Given the description of an element on the screen output the (x, y) to click on. 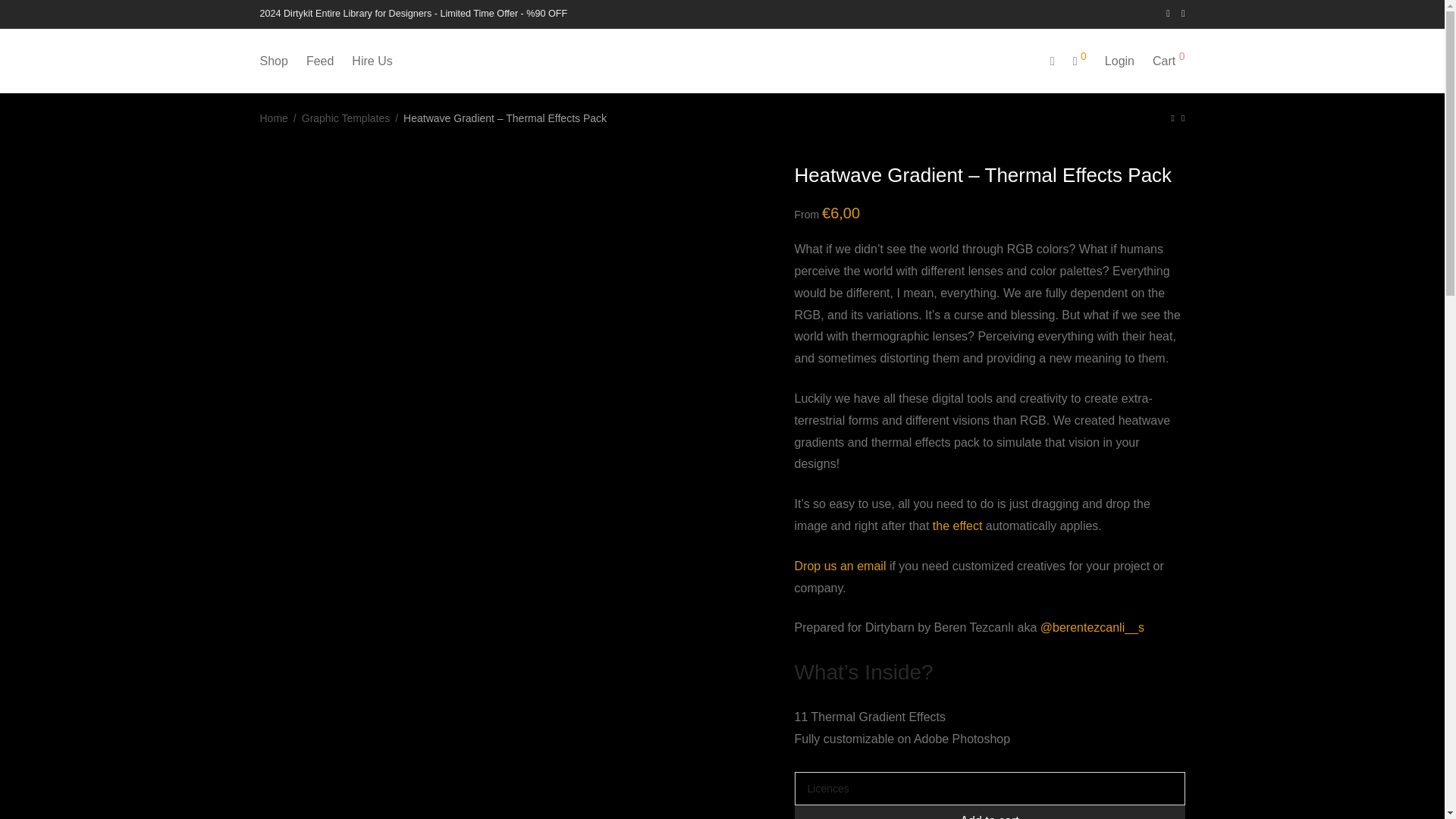
Hire Us (371, 61)
Login (1119, 61)
Shop (273, 61)
Feed (319, 61)
Add to cart (989, 811)
Graphic Templates (345, 117)
Drop us an email (840, 565)
Cart 0 (1167, 61)
the effect (957, 525)
Home (272, 117)
